Given the description of an element on the screen output the (x, y) to click on. 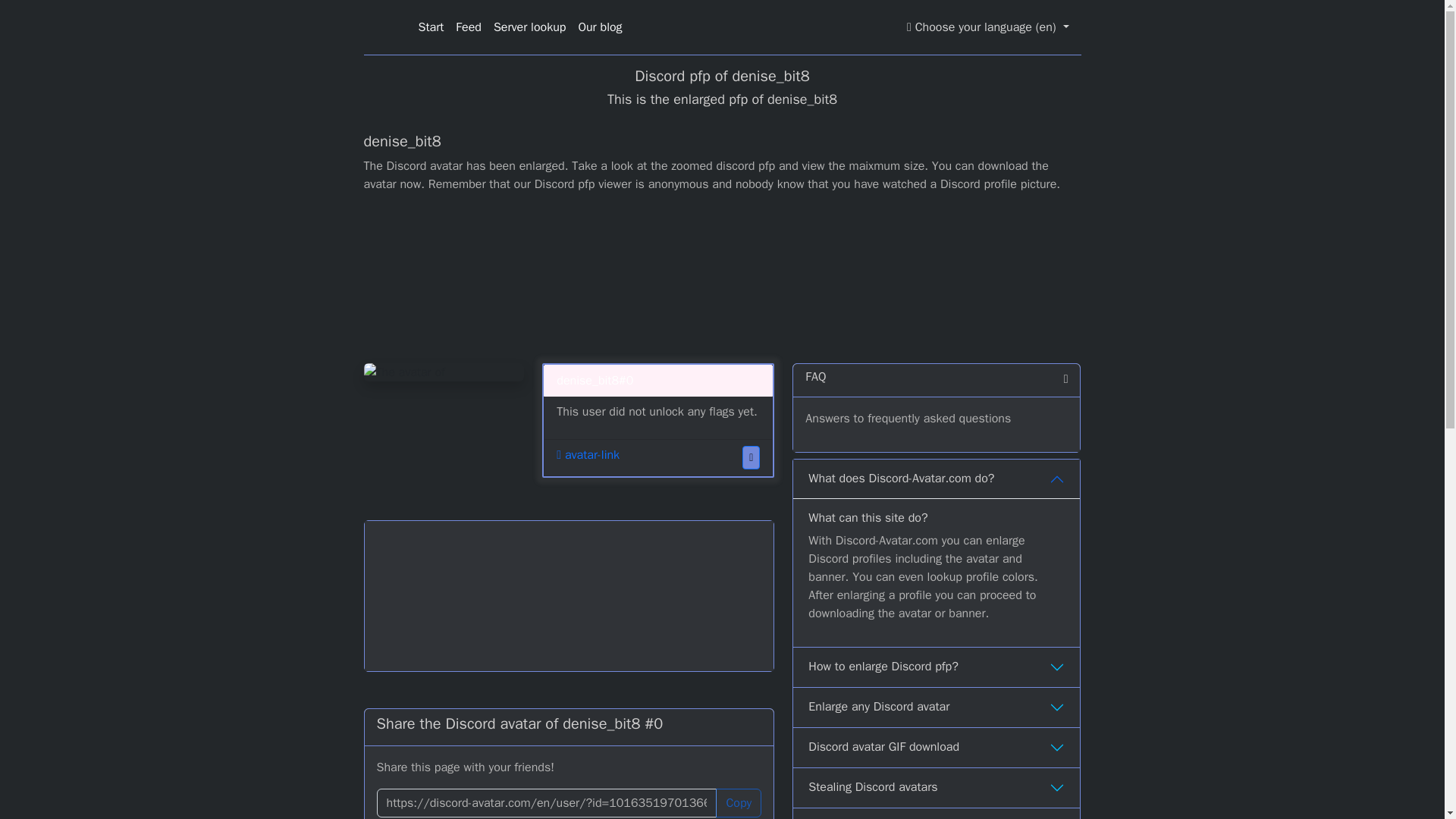
Start (430, 27)
Server lookup (529, 27)
Feed (468, 27)
Our blog (599, 27)
This is the link to the current site. (545, 802)
Our blog (599, 27)
Server lookup (529, 27)
Start (430, 27)
avatar-link (588, 454)
Feed (468, 27)
